Given the description of an element on the screen output the (x, y) to click on. 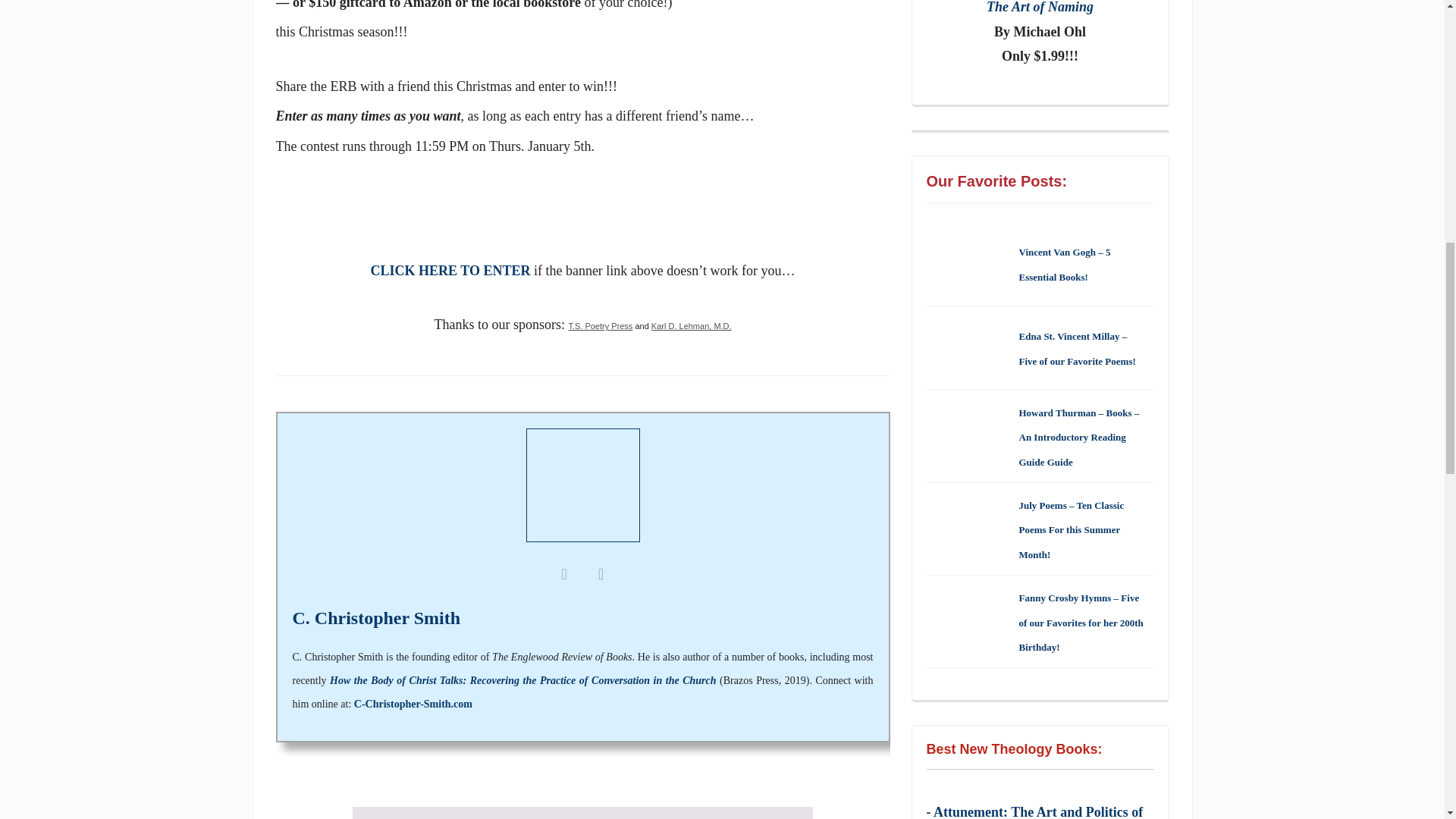
Christmas Contest 2011 (582, 217)
C. Christopher Smith (376, 618)
Karl D. Lehman, M.D. (691, 325)
T.S. Poetry Press (599, 325)
The Art of Naming (1040, 7)
CLICK HERE TO ENTER (582, 236)
C-Christopher-Smith.com (412, 704)
